Given the description of an element on the screen output the (x, y) to click on. 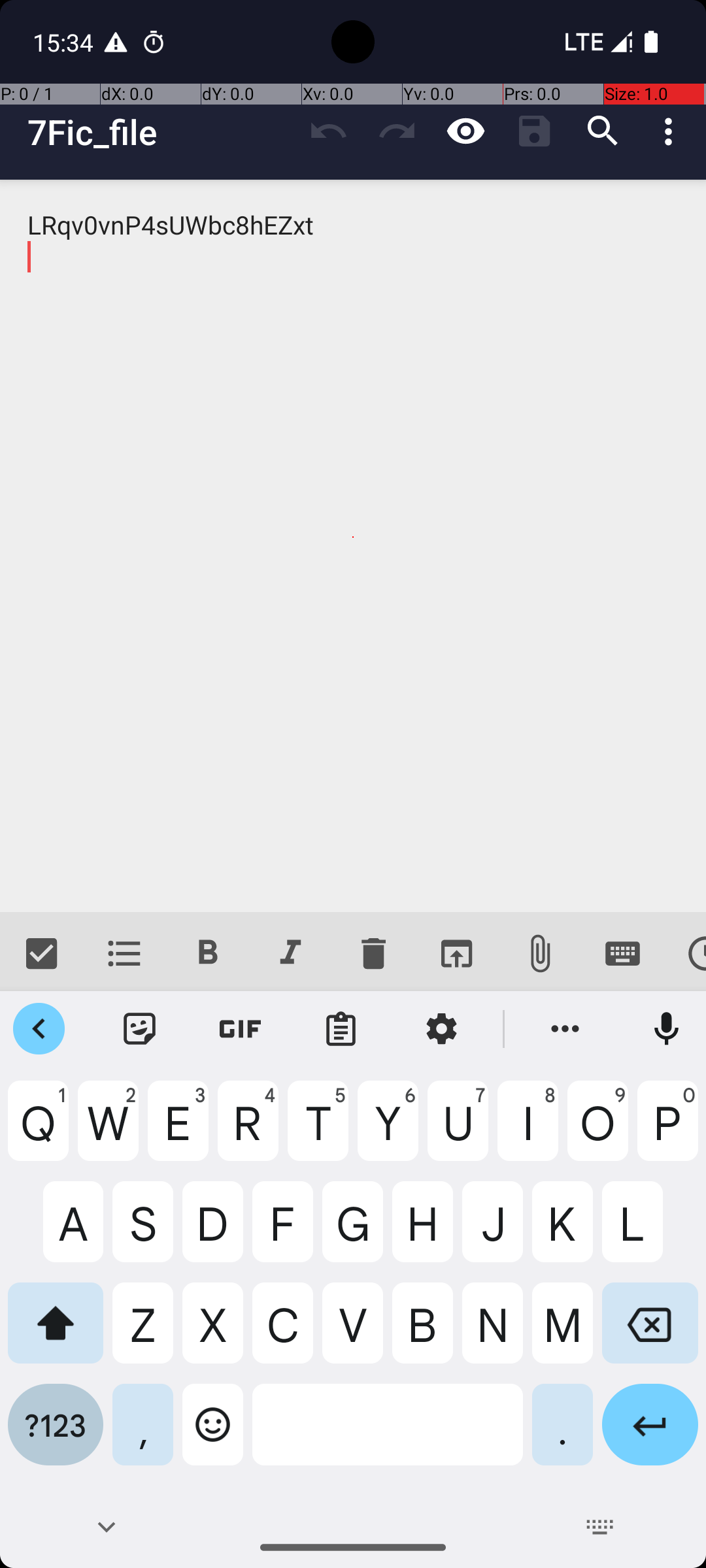
7Fic_file Element type: android.widget.TextView (160, 131)
LRqv0vnP4sUWbc8hEZxt
 Element type: android.widget.EditText (353, 545)
Q Element type: android.widget.FrameLayout (38, 1130)
E Element type: android.widget.FrameLayout (178, 1130)
R Element type: android.widget.FrameLayout (248, 1130)
Y Element type: android.widget.FrameLayout (387, 1130)
U Element type: android.widget.FrameLayout (457, 1130)
I Element type: android.widget.FrameLayout (527, 1130)
O Element type: android.widget.FrameLayout (597, 1130)
P Element type: android.widget.FrameLayout (667, 1130)
A Element type: android.widget.FrameLayout (55, 1231)
D Element type: android.widget.FrameLayout (212, 1231)
G Element type: android.widget.FrameLayout (352, 1231)
H Element type: android.widget.FrameLayout (422, 1231)
J Element type: android.widget.FrameLayout (492, 1231)
K Element type: android.widget.FrameLayout (562, 1231)
L Element type: android.widget.FrameLayout (649, 1231)
Z Element type: android.widget.FrameLayout (142, 1332)
X Element type: android.widget.FrameLayout (212, 1332)
C Element type: android.widget.FrameLayout (282, 1332)
V Element type: android.widget.FrameLayout (352, 1332)
B Element type: android.widget.FrameLayout (422, 1332)
N Element type: android.widget.FrameLayout (492, 1332)
